Given the description of an element on the screen output the (x, y) to click on. 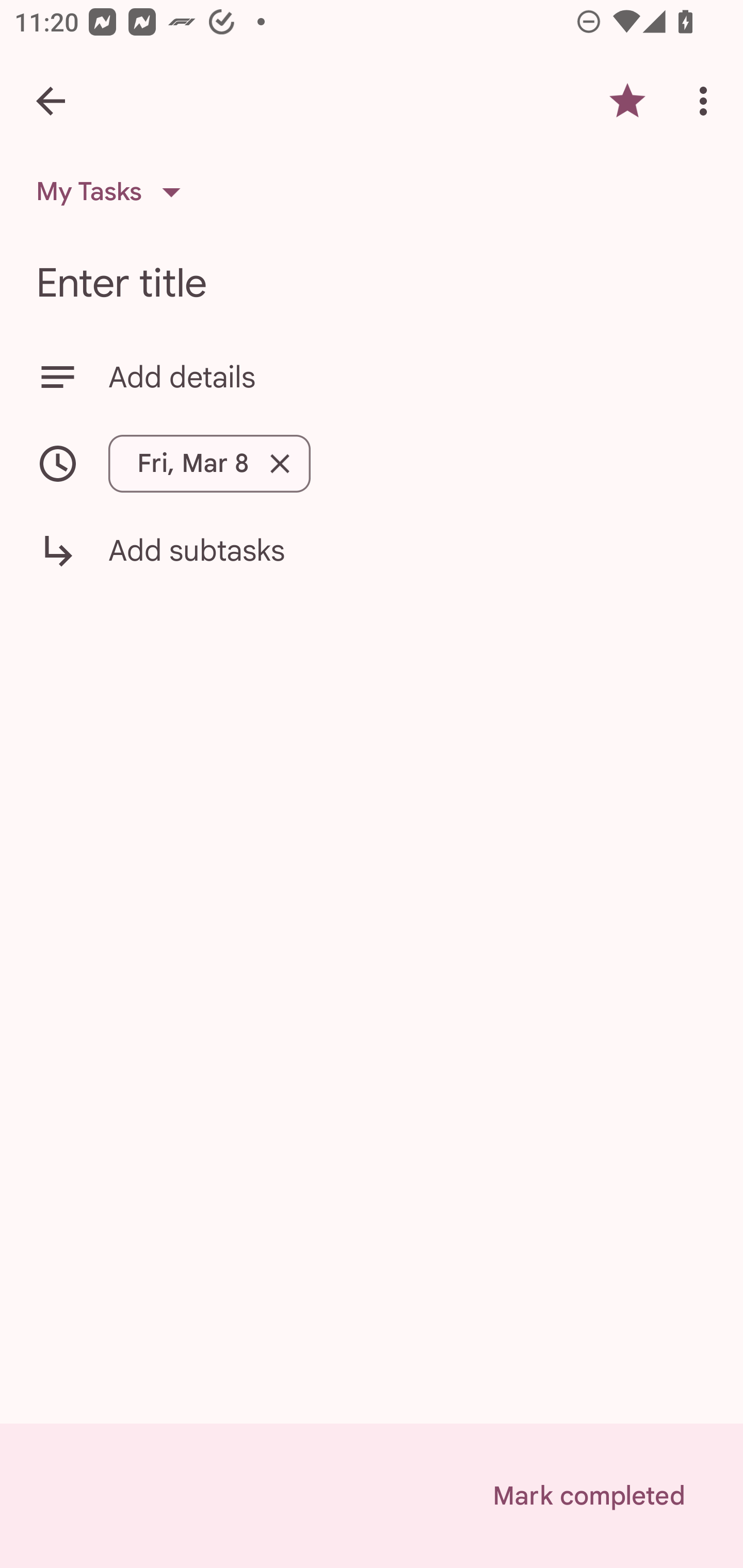
Back (50, 101)
Remove star (626, 101)
More options (706, 101)
My Tasks List, My Tasks selected, 1 of 5 (114, 191)
Enter title (371, 283)
Add details (371, 376)
Add details (407, 376)
Fri, Mar 8 Remove date/time (371, 463)
Fri, Mar 8 Remove date/time (209, 463)
Add subtasks (371, 564)
Mark completed (588, 1495)
